Given the description of an element on the screen output the (x, y) to click on. 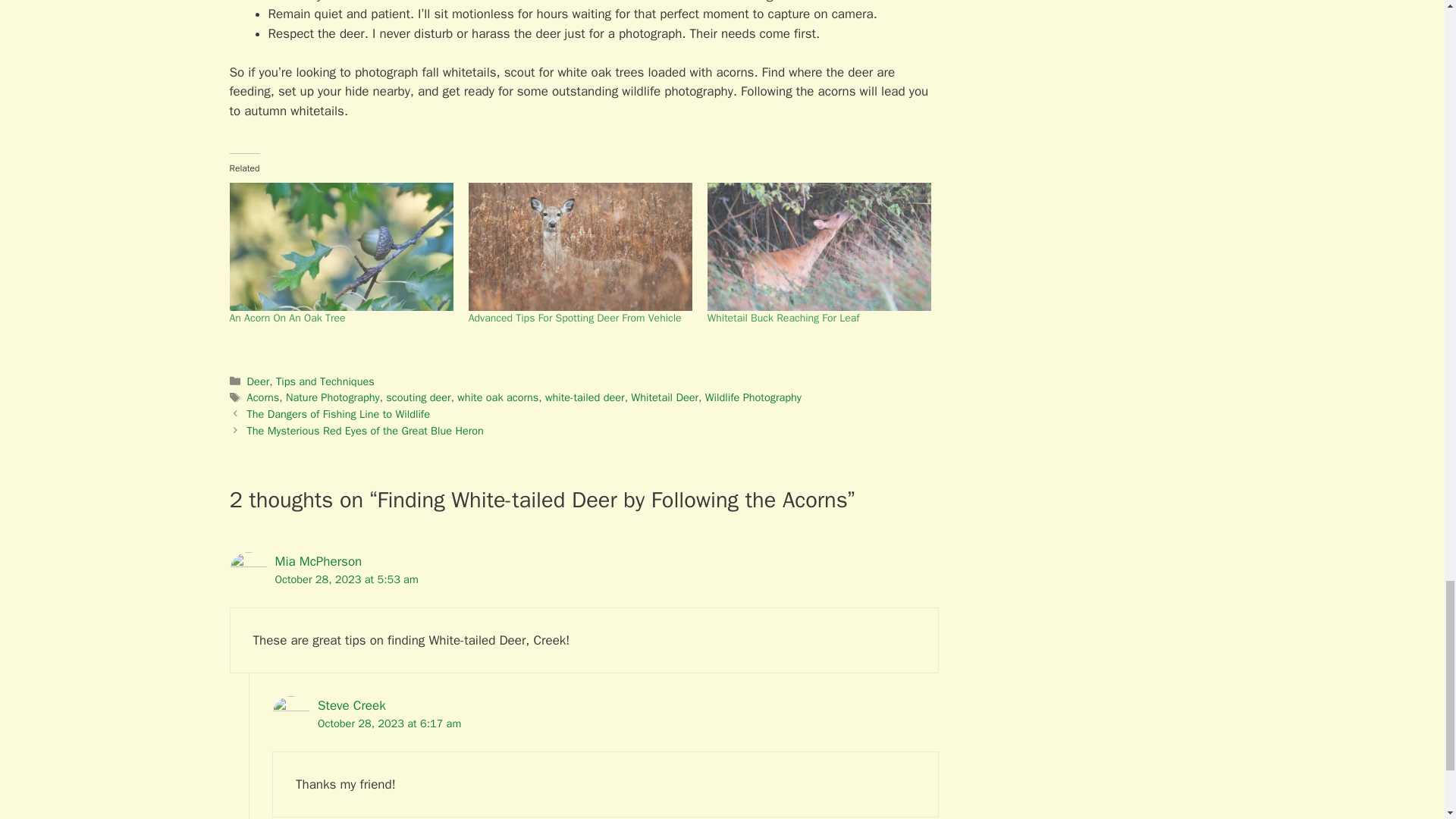
October 28, 2023 at 6:17 am (389, 723)
Acorns (263, 397)
An Acorn On An Oak Tree (286, 318)
Advanced Tips For Spotting Deer From Vehicle (574, 318)
Mia McPherson (318, 561)
white-tailed deer (584, 397)
Tips and Techniques (325, 381)
Deer (258, 381)
Nature Photography (332, 397)
Whitetail Buck Reaching For Leaf (783, 318)
An Acorn On An Oak Tree (340, 246)
scouting deer (417, 397)
Steve Creek (351, 705)
Whitetail Deer (664, 397)
Wildlife Photography (753, 397)
